Given the description of an element on the screen output the (x, y) to click on. 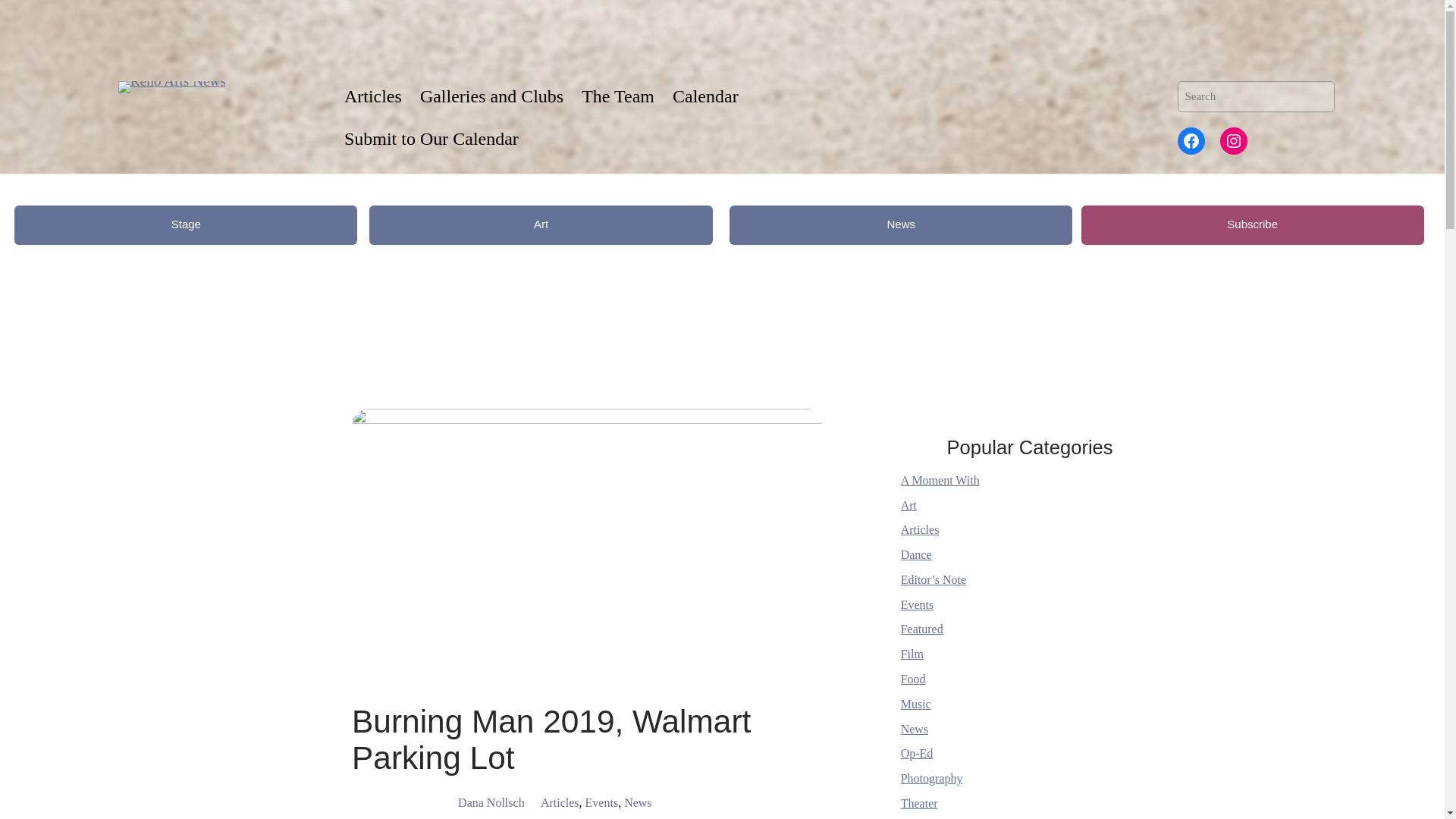
Dance (916, 554)
Art (540, 224)
Articles (559, 802)
Subscribe (1252, 224)
Film (912, 653)
Art (909, 504)
News (900, 224)
Articles (920, 529)
The Team (616, 96)
Dana Nollsch (491, 802)
Events (601, 802)
Facebook (1191, 140)
Featured (922, 628)
Submit to Our Calendar (430, 139)
News (637, 802)
